Given the description of an element on the screen output the (x, y) to click on. 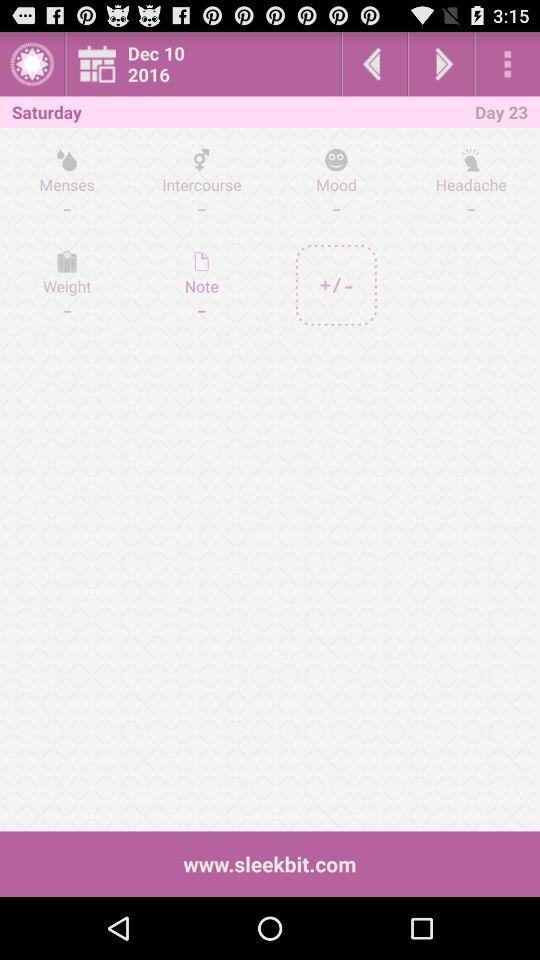
more option (507, 63)
